Given the description of an element on the screen output the (x, y) to click on. 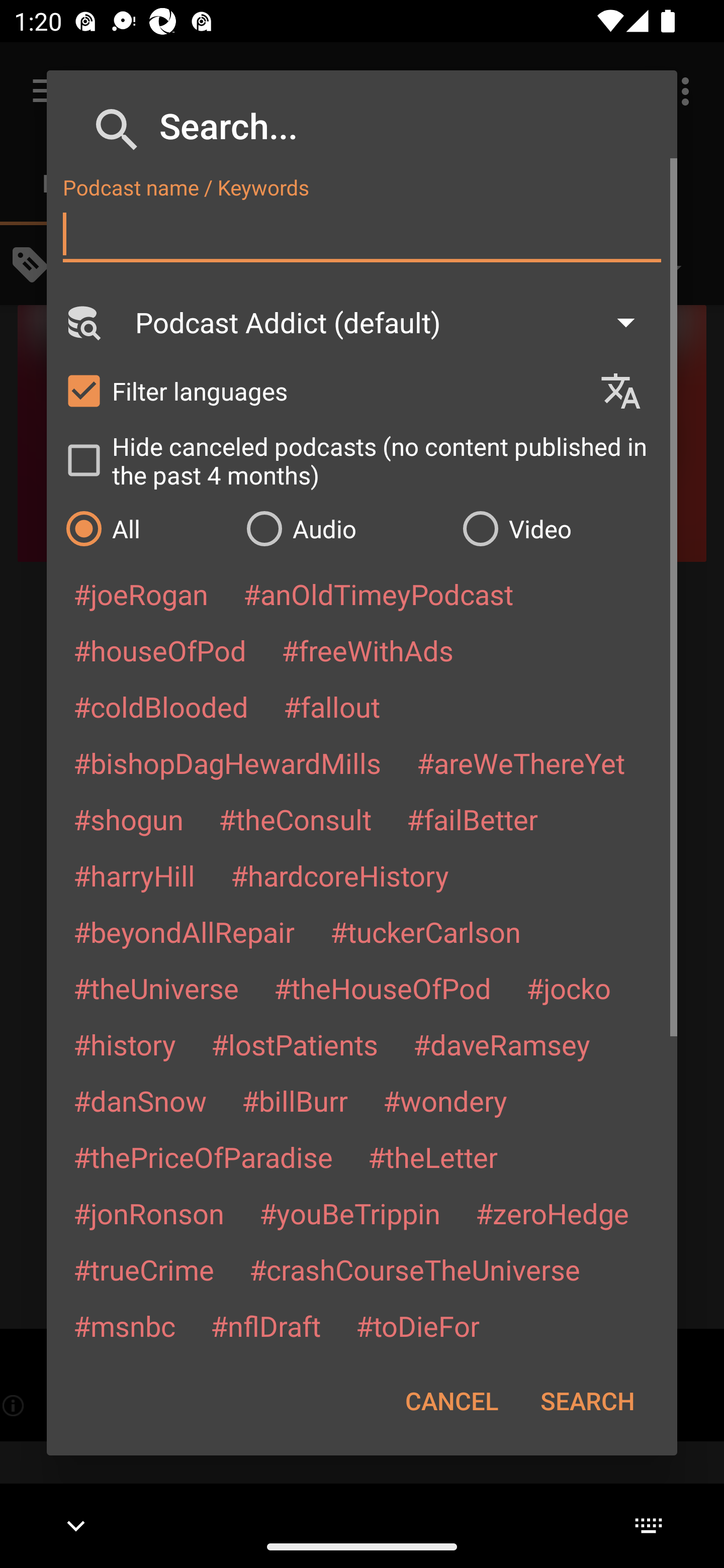
Podcast name / Keywords (361, 234)
Search Engine (82, 322)
Podcast Addict (default) (394, 322)
Languages selection (629, 390)
Filter languages (322, 390)
All (145, 528)
Audio (344, 528)
Video (560, 528)
#joeRogan (140, 594)
#anOldTimeyPodcast (378, 594)
#houseOfPod (159, 650)
#freeWithAds (367, 650)
#coldBlooded (160, 705)
#fallout (331, 705)
#bishopDagHewardMills (227, 762)
#areWeThereYet (521, 762)
#shogun (128, 818)
#theConsult (294, 818)
#failBetter (471, 818)
#harryHill (134, 875)
#hardcoreHistory (339, 875)
#beyondAllRepair (184, 931)
#tuckerCarlson (425, 931)
#theUniverse (155, 987)
#theHouseOfPod (381, 987)
#jocko (568, 987)
#history (124, 1044)
#lostPatients (294, 1044)
#daveRamsey (501, 1044)
#danSnow (139, 1100)
#billBurr (294, 1100)
#wondery (444, 1100)
#thePriceOfParadise (203, 1157)
#theLetter (432, 1157)
#jonRonson (148, 1213)
#youBeTrippin (349, 1213)
#zeroHedge (552, 1213)
#trueCrime (143, 1268)
#crashCourseTheUniverse (414, 1268)
#msnbc (124, 1325)
#nflDraft (265, 1325)
#toDieFor (417, 1325)
CANCEL (451, 1400)
SEARCH (587, 1400)
